Given the description of an element on the screen output the (x, y) to click on. 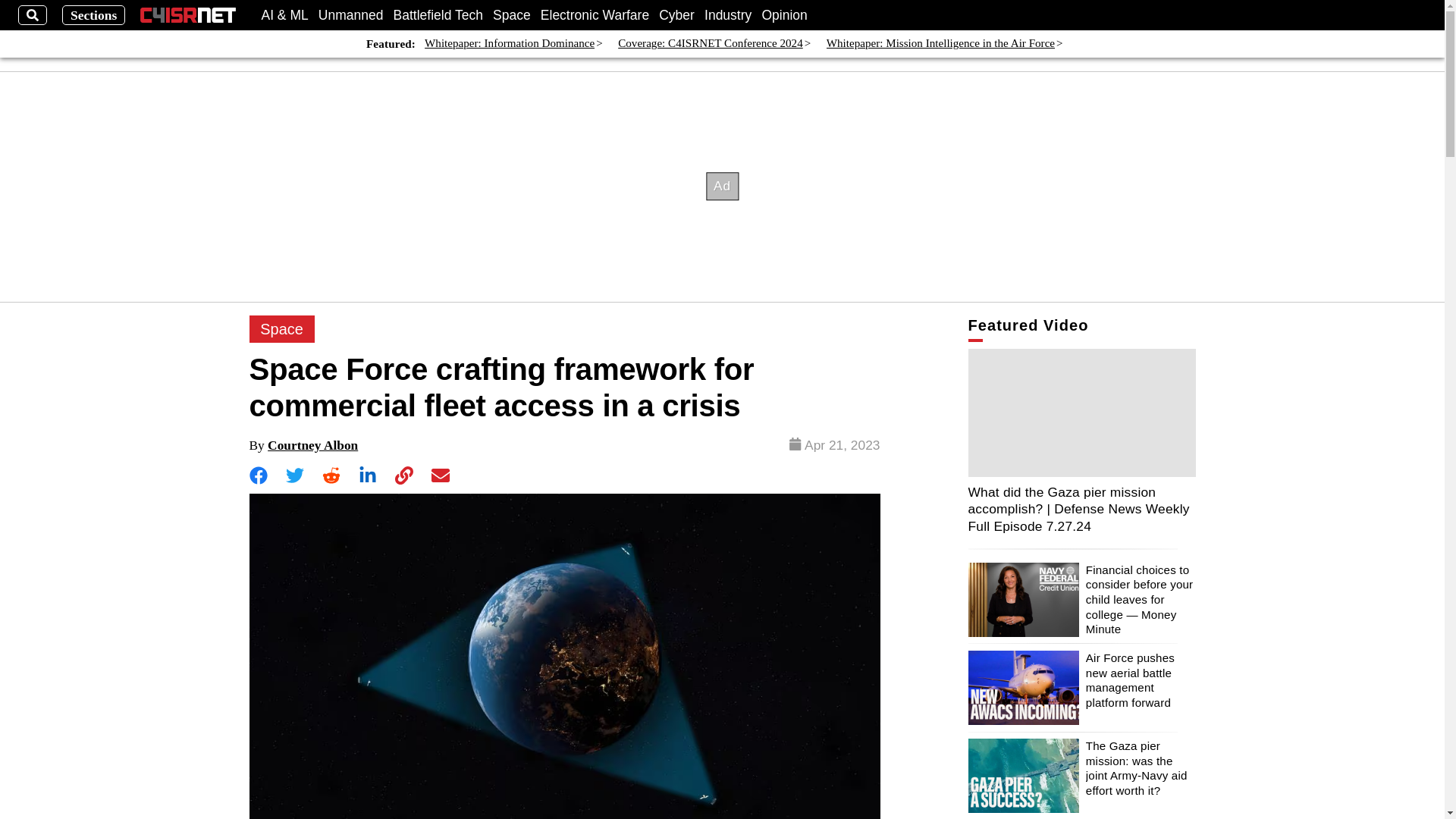
Electronic Warfare (594, 14)
Opinion (783, 14)
Space (281, 329)
Industry (727, 14)
Sections (93, 14)
Whitepaper: Mission Intelligence in the Air Force (940, 43)
Unmanned (351, 14)
C4ISRNet Logo (187, 14)
Battlefield Tech (438, 14)
Whitepaper: Information Dominance (509, 43)
Cyber (676, 14)
Coverage: C4ISRNET Conference 2024 (710, 43)
Space (512, 14)
